Given the description of an element on the screen output the (x, y) to click on. 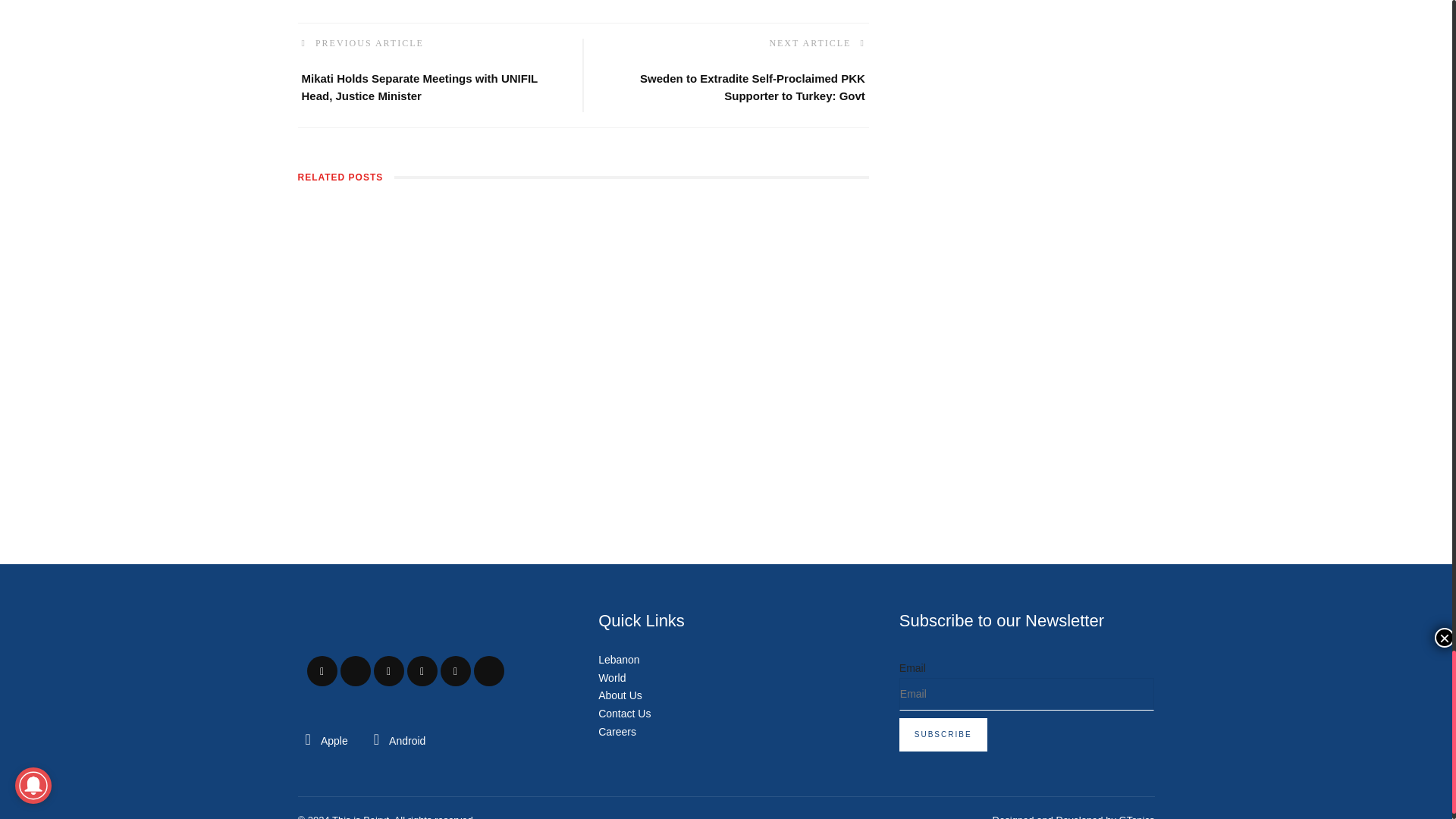
Subscribe (943, 734)
